Given the description of an element on the screen output the (x, y) to click on. 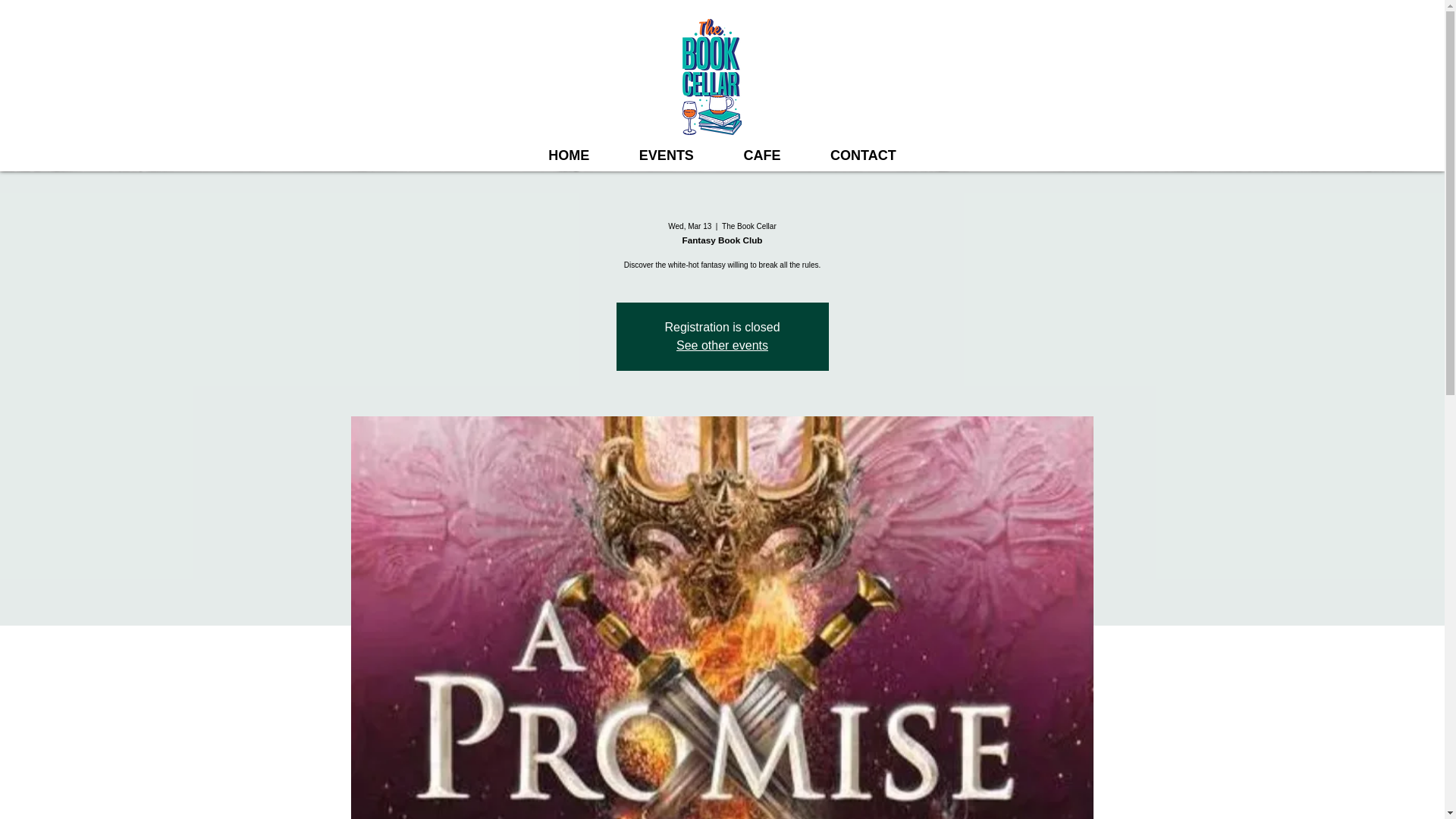
CAFE (762, 155)
CONTACT (862, 155)
HOME (568, 155)
EVENTS (666, 155)
See other events (722, 345)
